Given the description of an element on the screen output the (x, y) to click on. 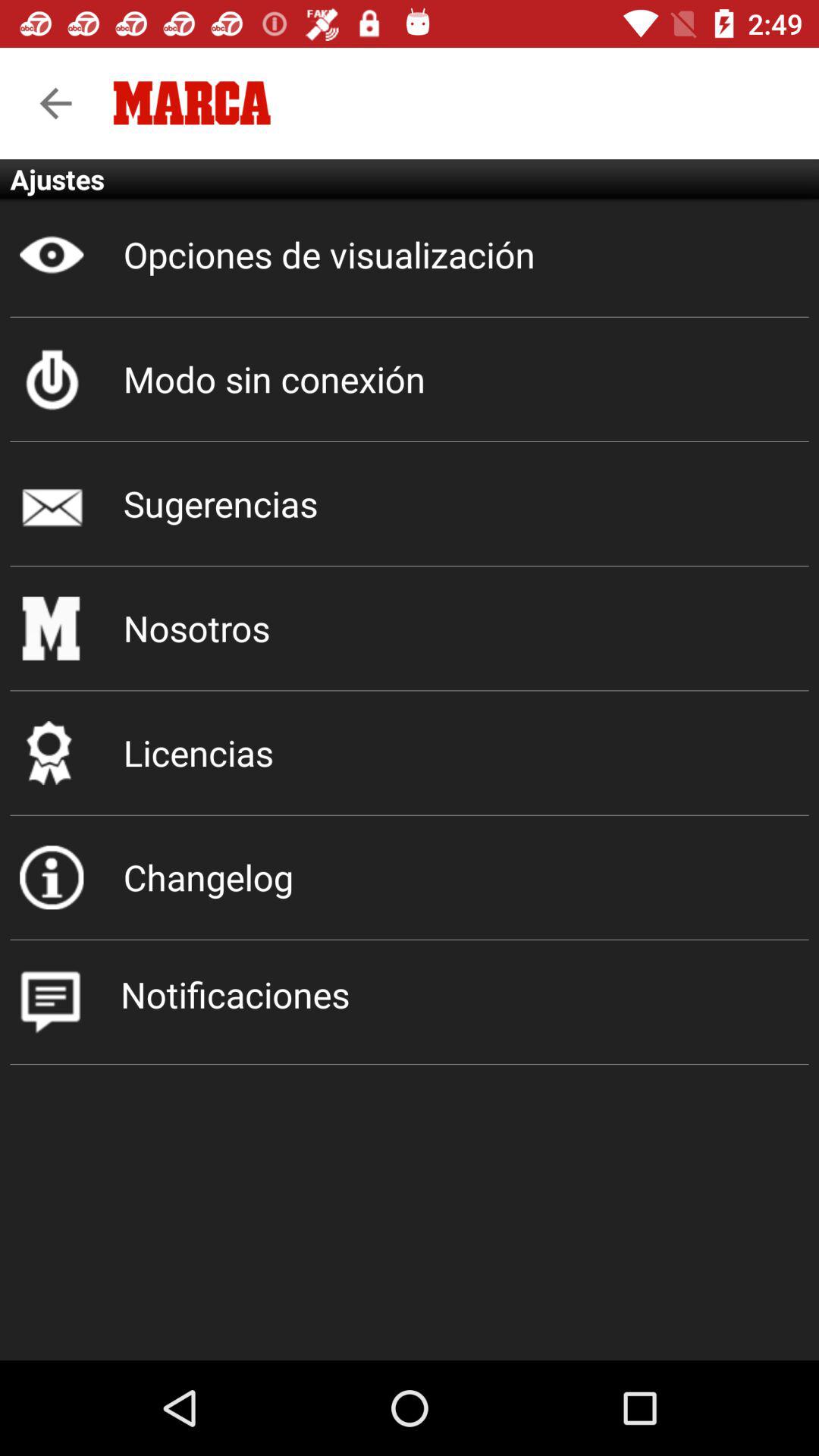
select the icon below ajustes (409, 254)
